Given the description of an element on the screen output the (x, y) to click on. 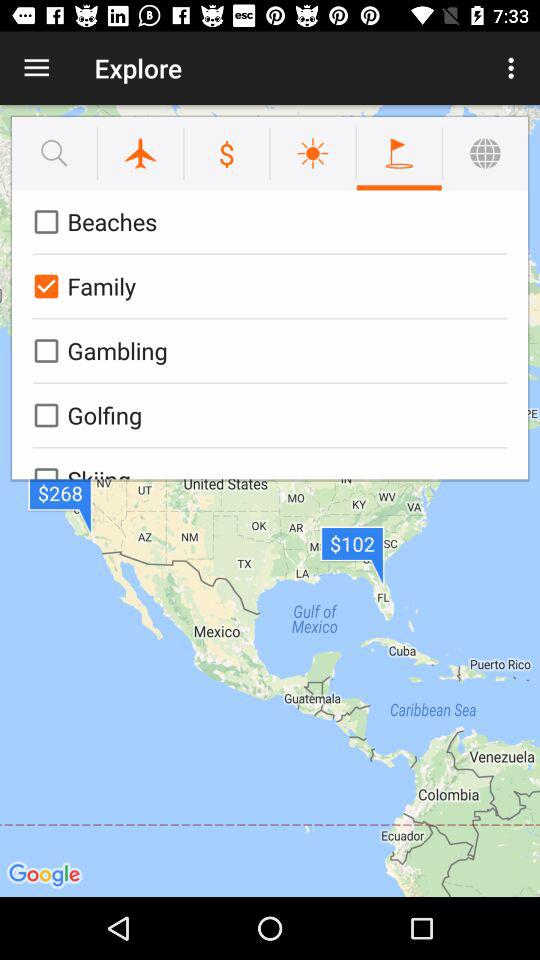
press item to the right of explore item (513, 67)
